Given the description of an element on the screen output the (x, y) to click on. 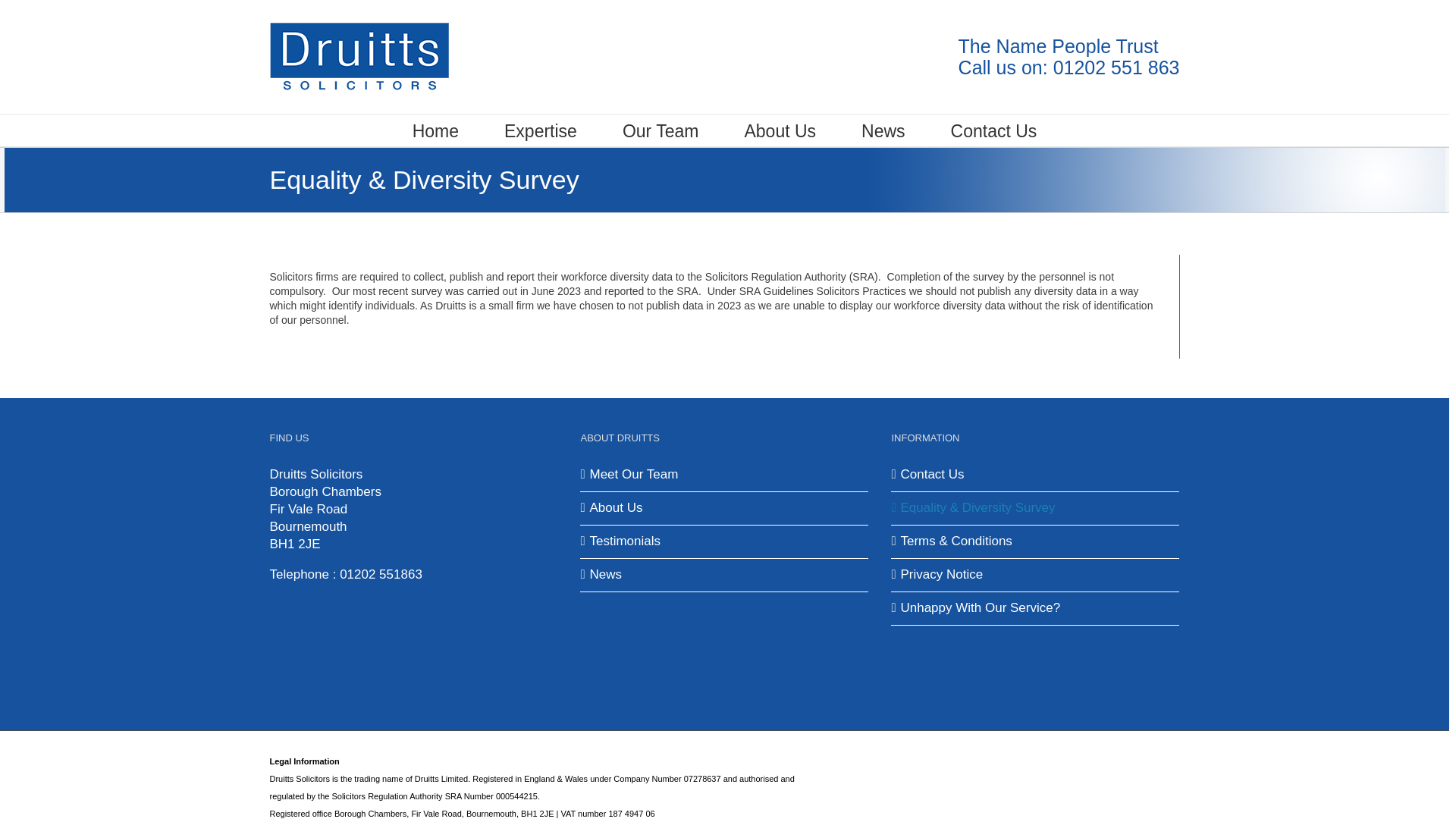
About Us (724, 507)
Contact Us (1035, 475)
Meet Our Team (724, 475)
About Us (779, 130)
Unhappy With Our Service? (1035, 608)
Testimonials (724, 541)
Our Team (660, 130)
Home (435, 130)
News (724, 574)
News (883, 130)
